Given the description of an element on the screen output the (x, y) to click on. 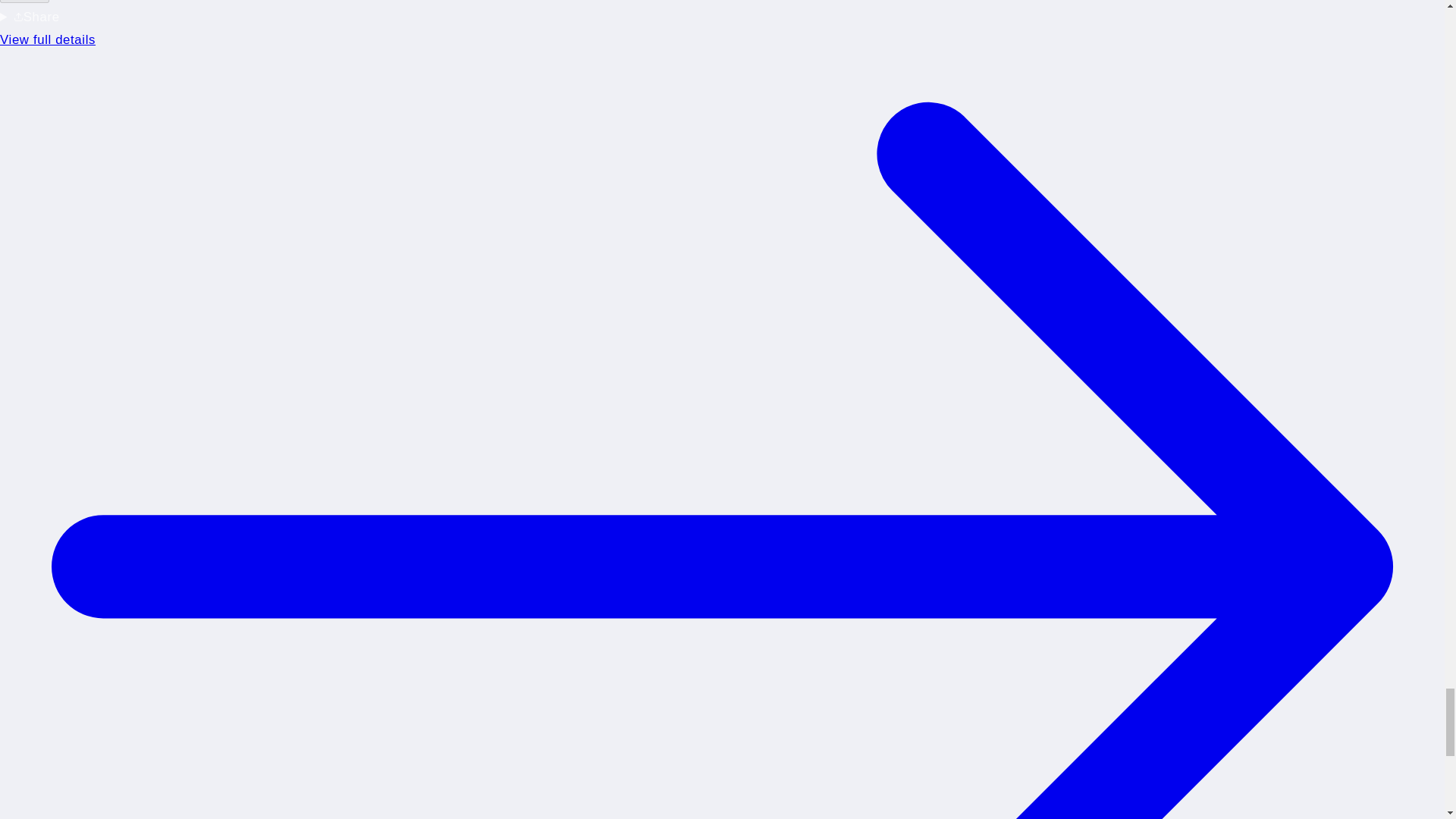
Share (24, 1)
